Given the description of an element on the screen output the (x, y) to click on. 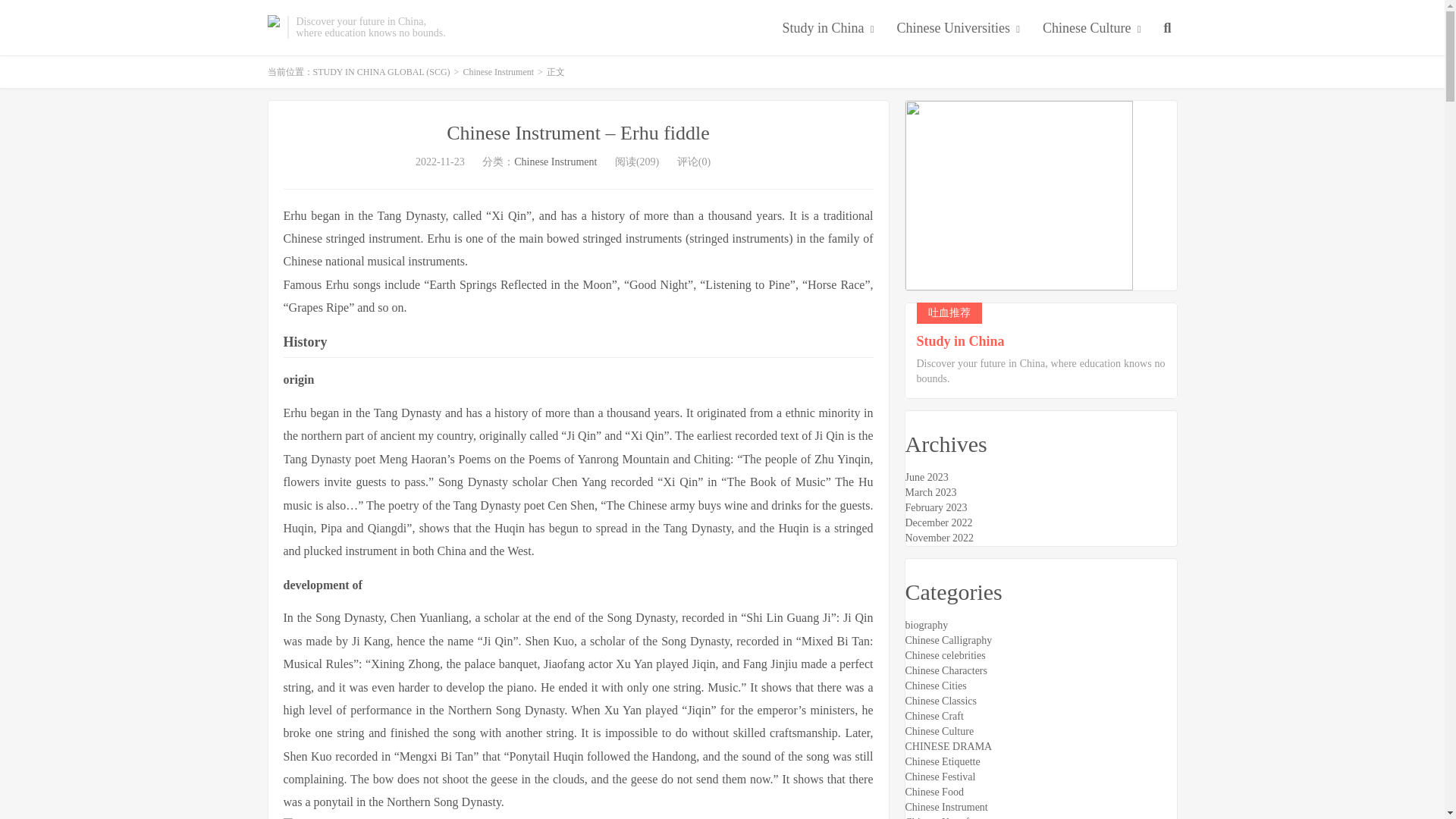
Chinese Culture (1091, 28)
Chinese Universities (958, 28)
Study in China (829, 28)
